Given the description of an element on the screen output the (x, y) to click on. 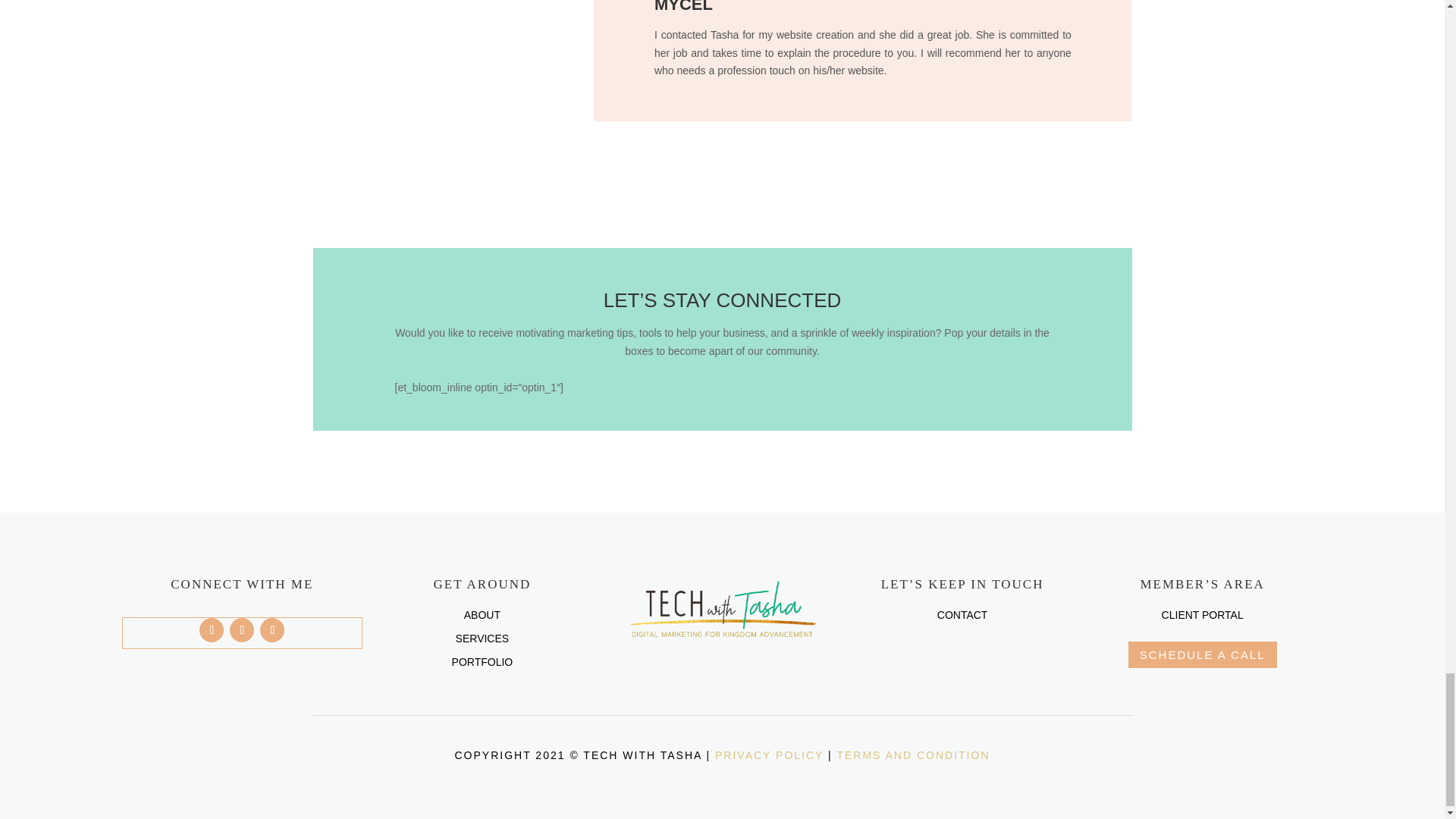
Follow on Twitter (241, 630)
Follow on Facebook (211, 630)
PORTFOLIO (482, 662)
CONTACT (962, 614)
ABOUT (482, 614)
Follow on Instagram (271, 630)
PRIVACY POLICY (769, 755)
Digital Marketing For Kingdom Advancement (722, 610)
SERVICES (482, 638)
CLIENT PORTAL (1202, 614)
TERMS AND CONDITION (912, 755)
SCHEDULE A CALL (1202, 654)
